Given the description of an element on the screen output the (x, y) to click on. 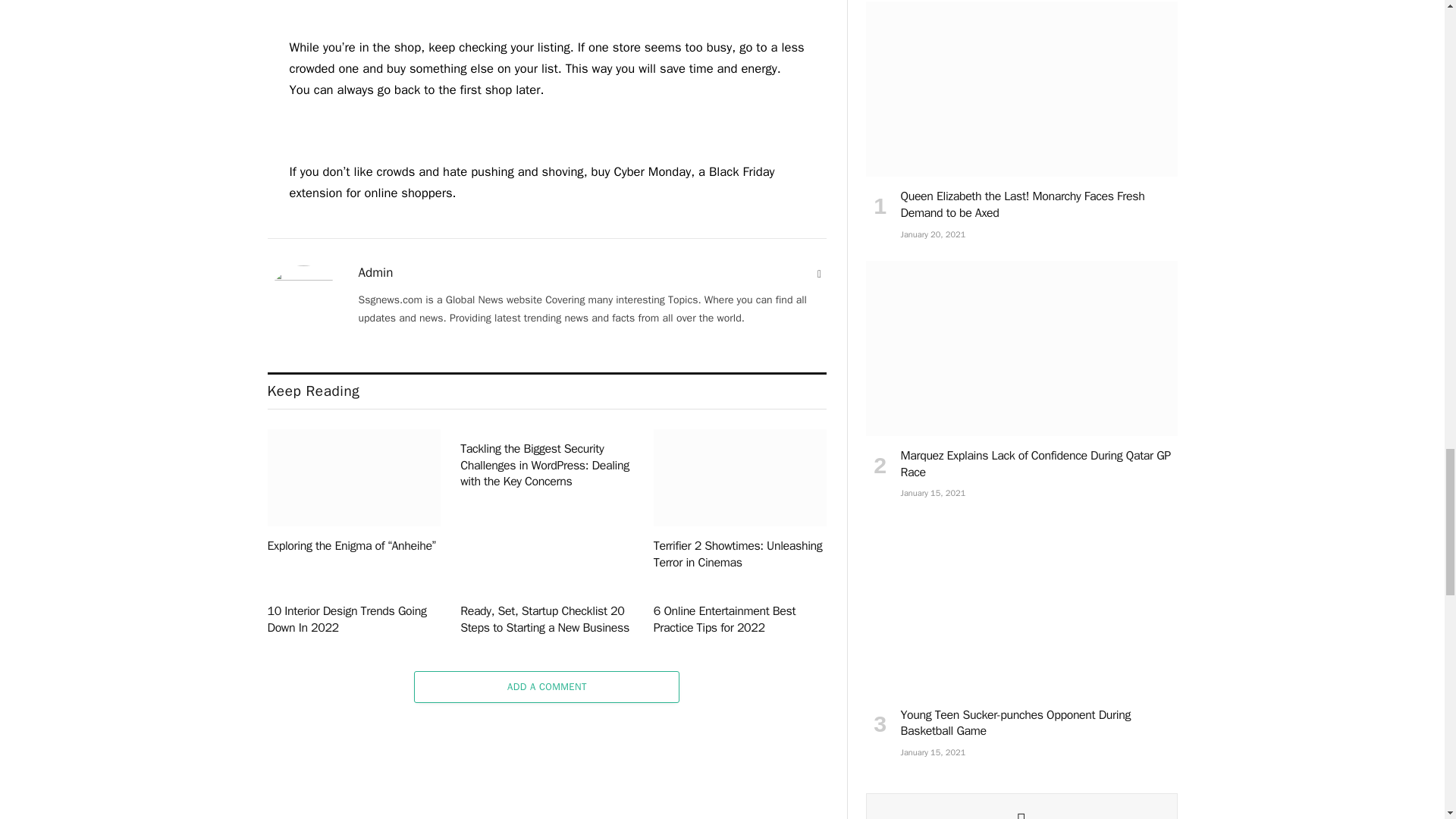
Terrifier 2 Showtimes: Unleashing Terror in Cinemas (740, 478)
Posts by Admin (375, 272)
Website (818, 273)
